Given the description of an element on the screen output the (x, y) to click on. 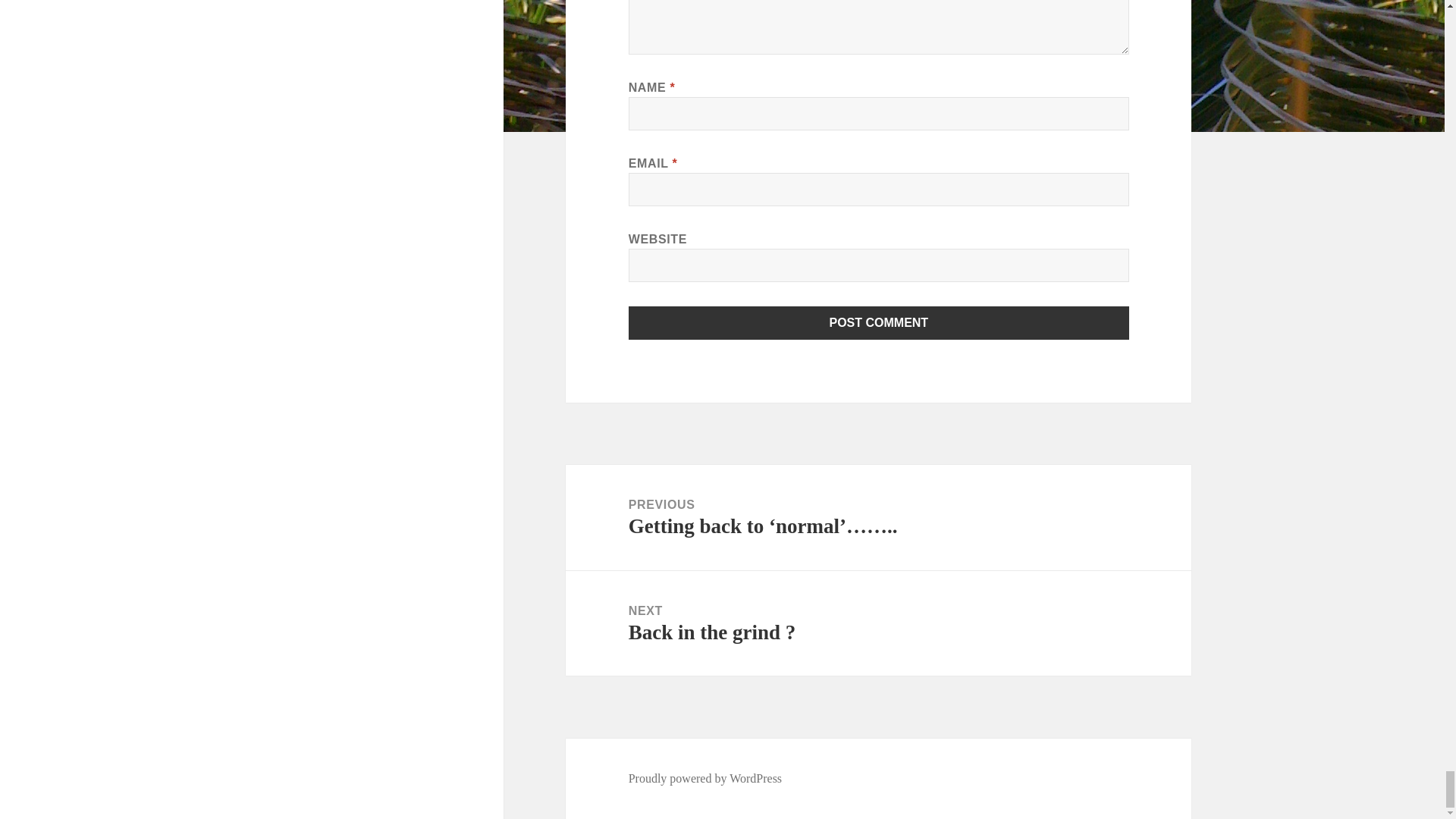
Proudly powered by WordPress (704, 778)
Post Comment (878, 623)
Post Comment (878, 322)
